Given the description of an element on the screen output the (x, y) to click on. 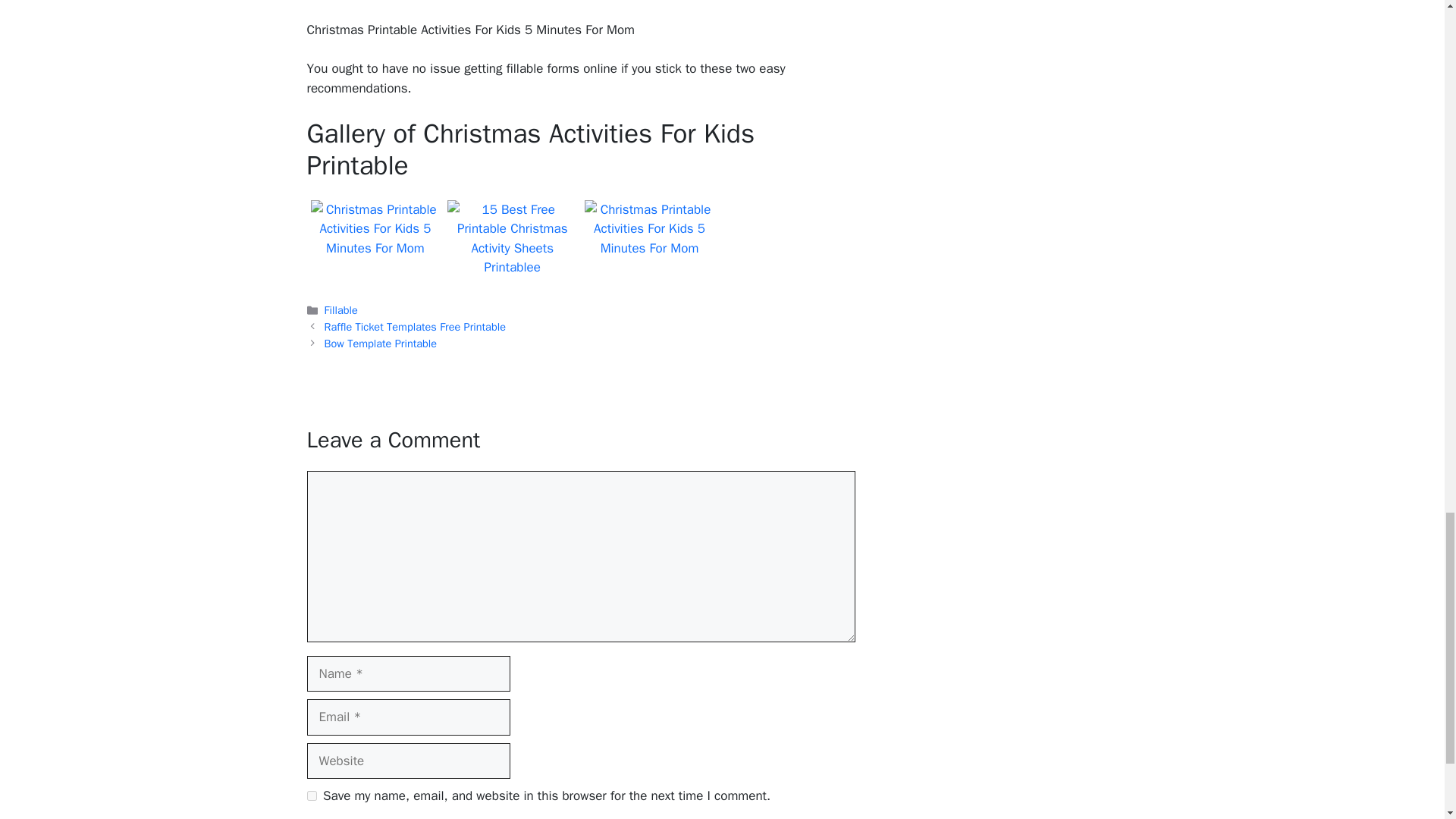
Fillable (341, 309)
Bow Template Printable (380, 343)
yes (310, 795)
Raffle Ticket Templates Free Printable (414, 326)
